Given the description of an element on the screen output the (x, y) to click on. 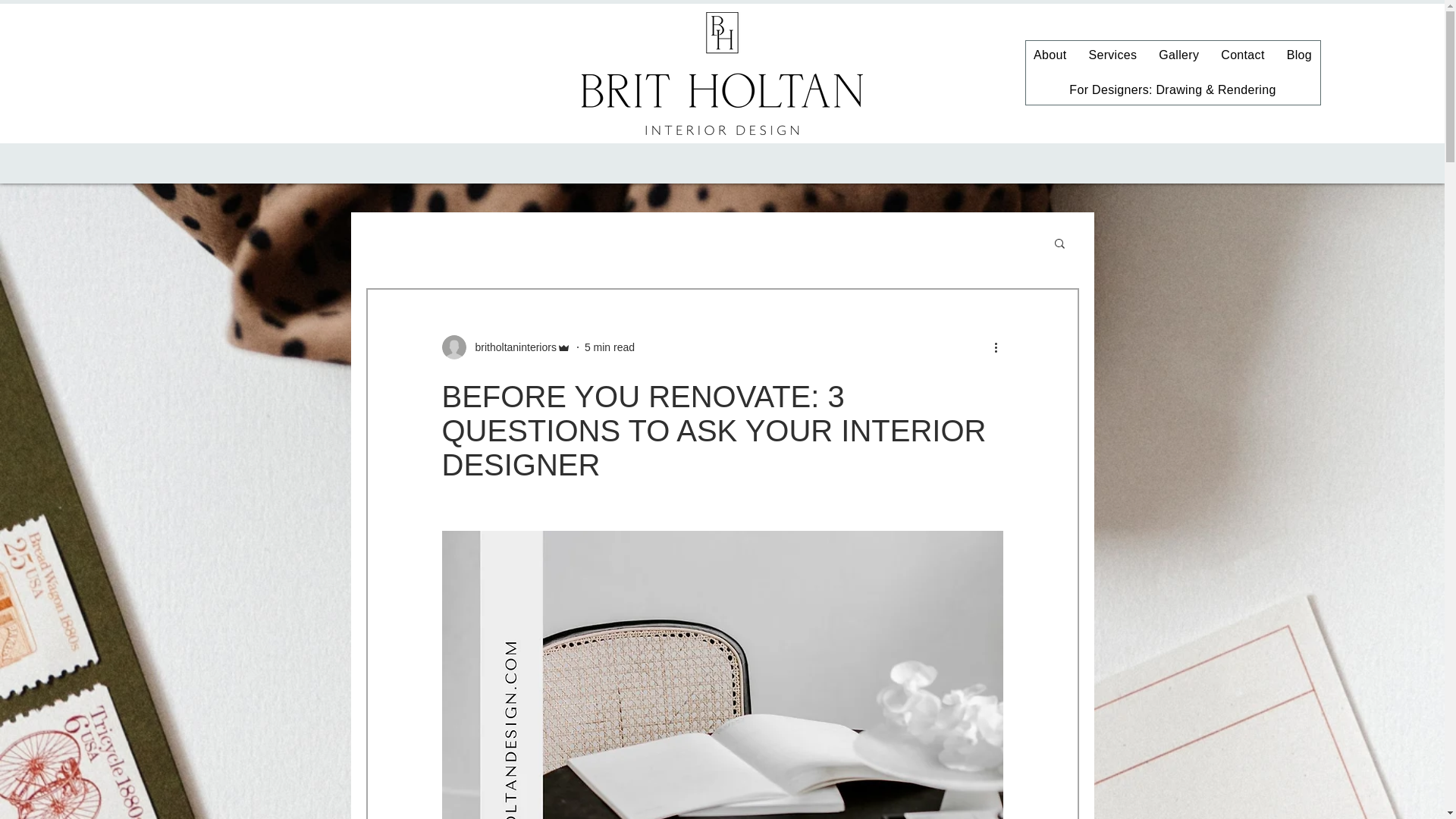
Blog (1298, 54)
Gallery (1179, 54)
BritHoltanMainLogo-Black.png (720, 73)
5 min read (609, 346)
Contact (1242, 54)
britholtaninteriors (505, 346)
About (1049, 54)
Services (1112, 54)
britholtaninteriors (510, 347)
